Given the description of an element on the screen output the (x, y) to click on. 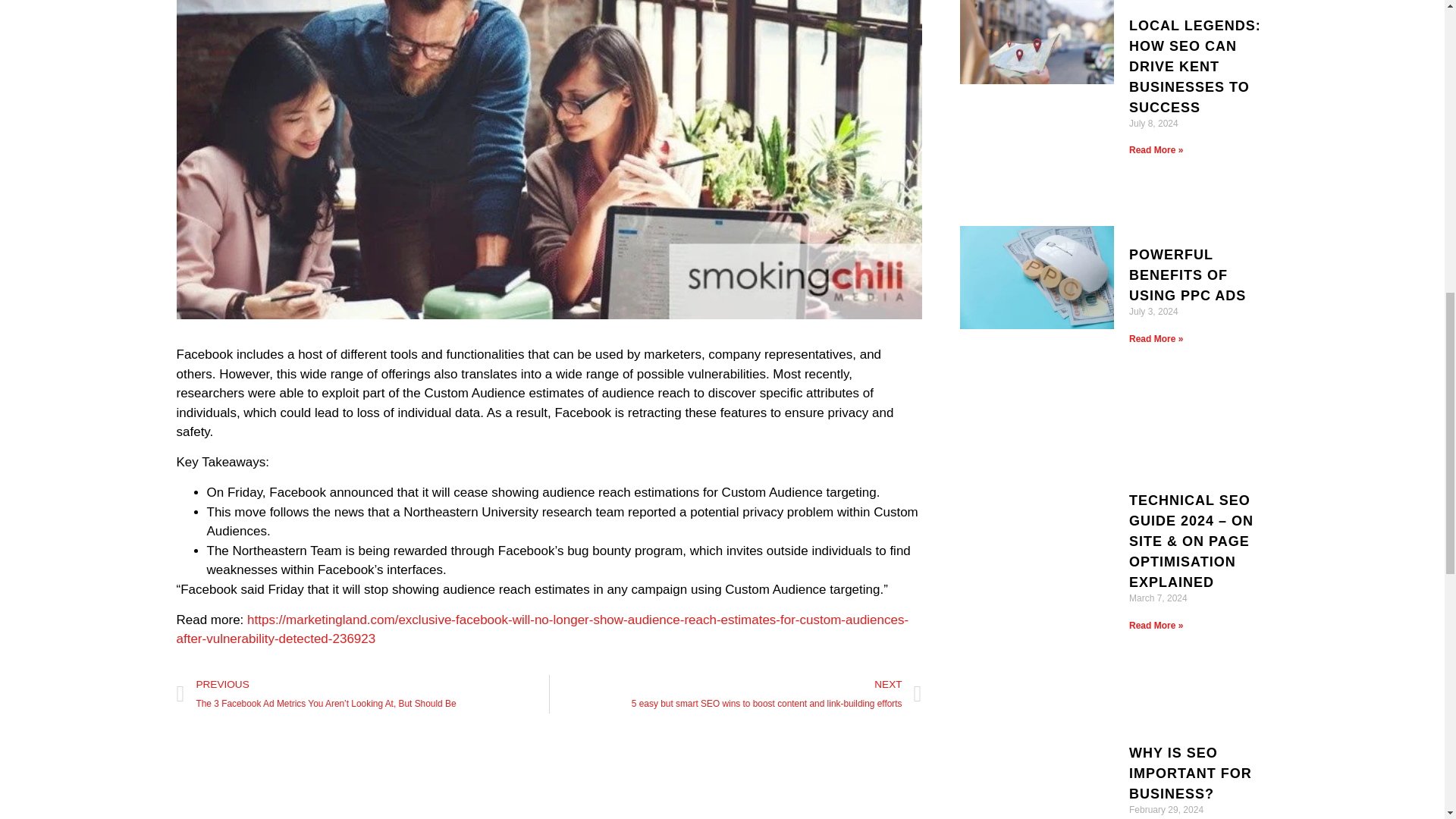
LOCAL LEGENDS: HOW SEO CAN DRIVE KENT BUSINESSES TO SUCCESS (1194, 66)
